Given the description of an element on the screen output the (x, y) to click on. 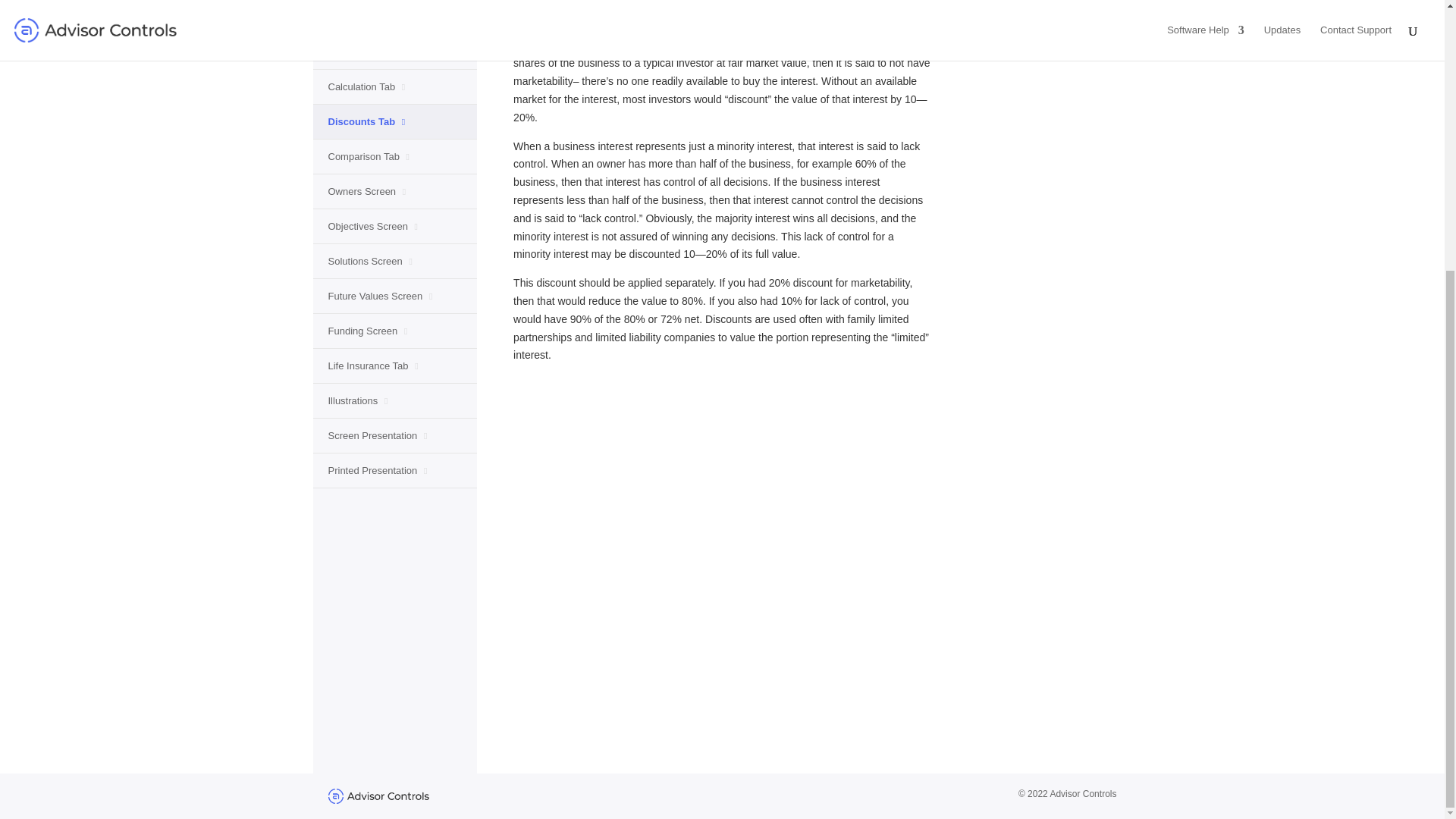
Objectives Screen (372, 229)
ac-logo-500px (378, 795)
Comparison Tab (368, 159)
Estimating Value (368, 20)
Future Values Screen (379, 299)
Owners Screen (366, 194)
Financial Tab (360, 54)
Calculation Tab (365, 89)
Solutions Screen (369, 264)
Discounts Tab (365, 125)
